Given the description of an element on the screen output the (x, y) to click on. 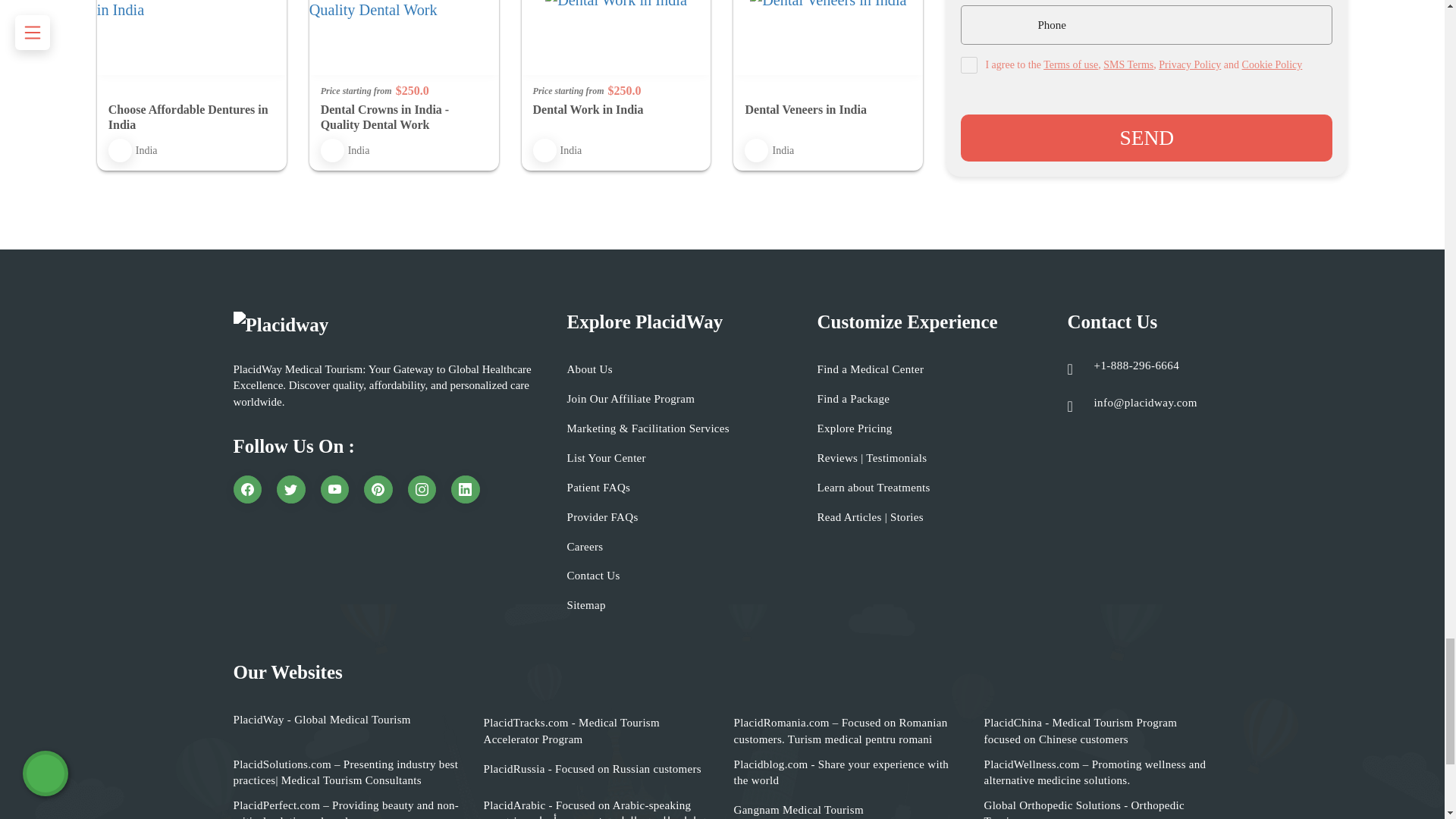
Placidway's facebook Account (247, 489)
Gangnam Medical Tourism (798, 810)
Global Orthopedic Solutions - Orthopedic Tourism (1097, 808)
Placidway's Instagram Account (421, 489)
PlacidWay - Global Medical Tourism (321, 719)
Placidblog.com - Share your experience with the world (846, 772)
Placidway's Linkedin Account (465, 489)
Placidway's Youtube Account (334, 489)
PlacidRussia - Focused on Russian customers (592, 769)
Placidway's Pinterest Account (378, 489)
Placidway's Twitter Account (290, 489)
PlacidTracks.com - Medical Tourism Accelerator Program (597, 730)
